Given the description of an element on the screen output the (x, y) to click on. 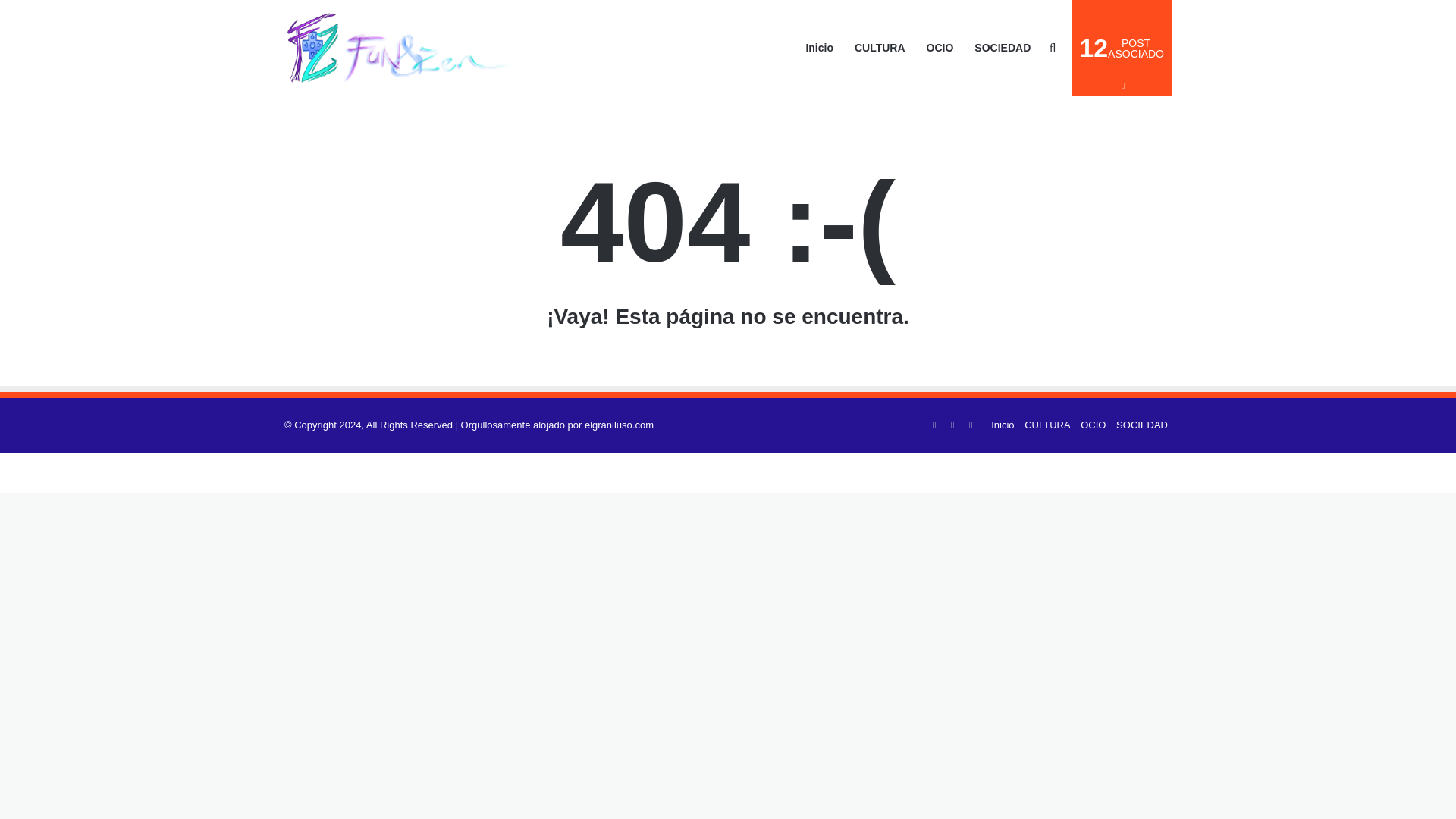
Facebook (1121, 48)
OCIO (933, 425)
X (1092, 424)
YouTube (951, 425)
Inicio (969, 425)
SOCIEDAD (1002, 424)
CULTURA (1141, 424)
